Given the description of an element on the screen output the (x, y) to click on. 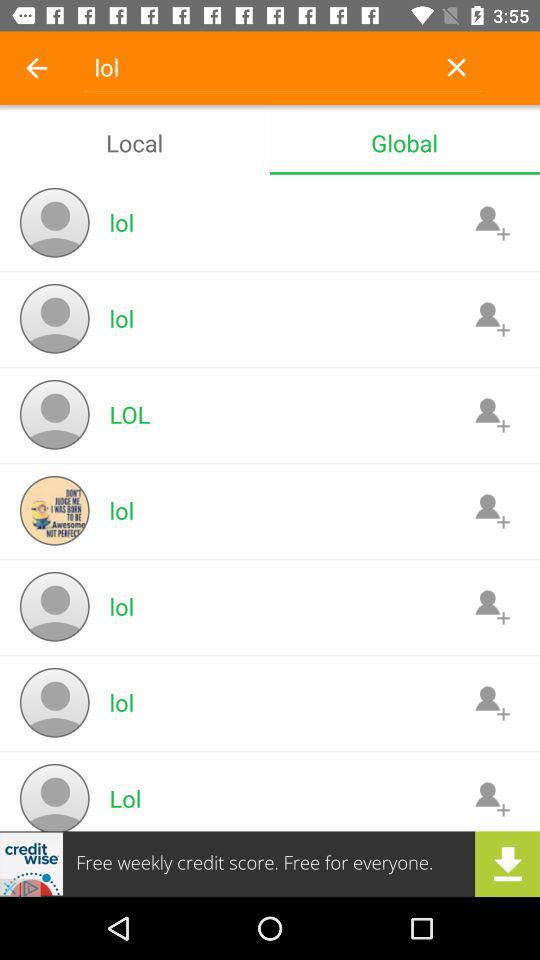
add friend (492, 318)
